Given the description of an element on the screen output the (x, y) to click on. 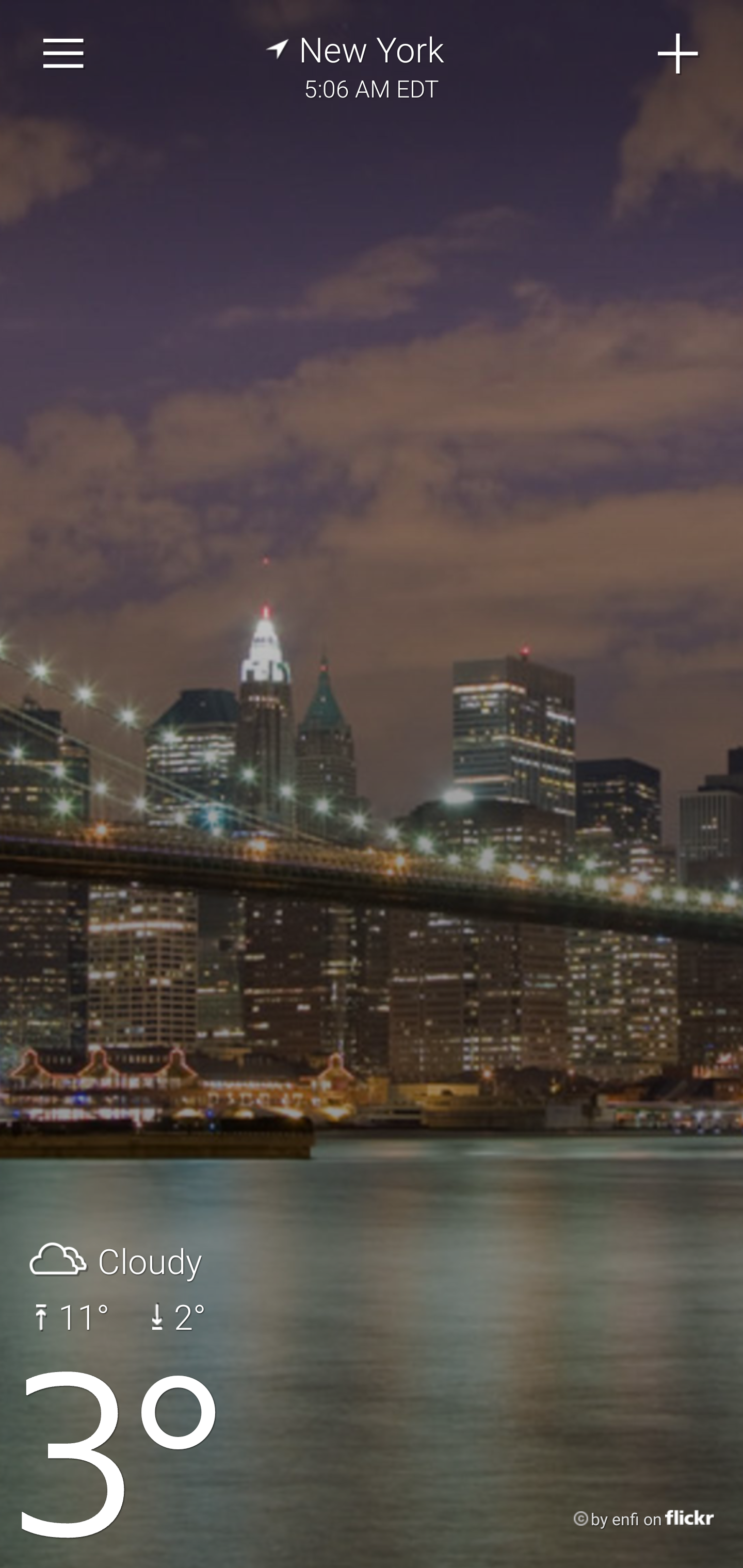
Sidebar (64, 54)
Add City (678, 53)
by enfi on Background photo by: enfi on Flickr (625, 1519)
